Given the description of an element on the screen output the (x, y) to click on. 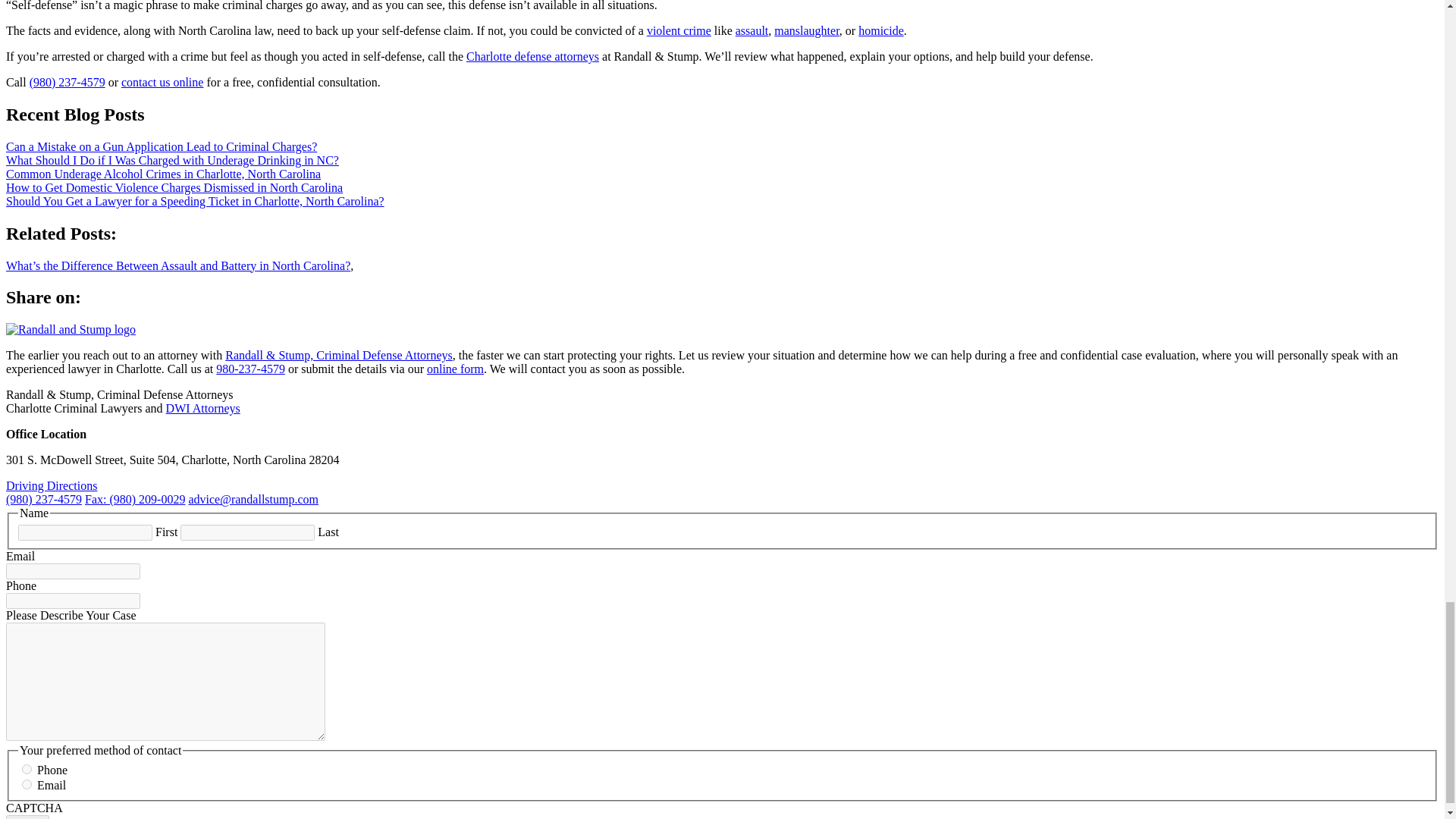
call us at 9.8.0.2.3.7.4.5.7.9 (250, 368)
Common Underage Alcohol Crimes in Charlotte, North Carolina (162, 173)
Phone (26, 768)
Email (26, 784)
Can a Mistake on a Gun Application Lead to Criminal Charges? (161, 146)
